Given the description of an element on the screen output the (x, y) to click on. 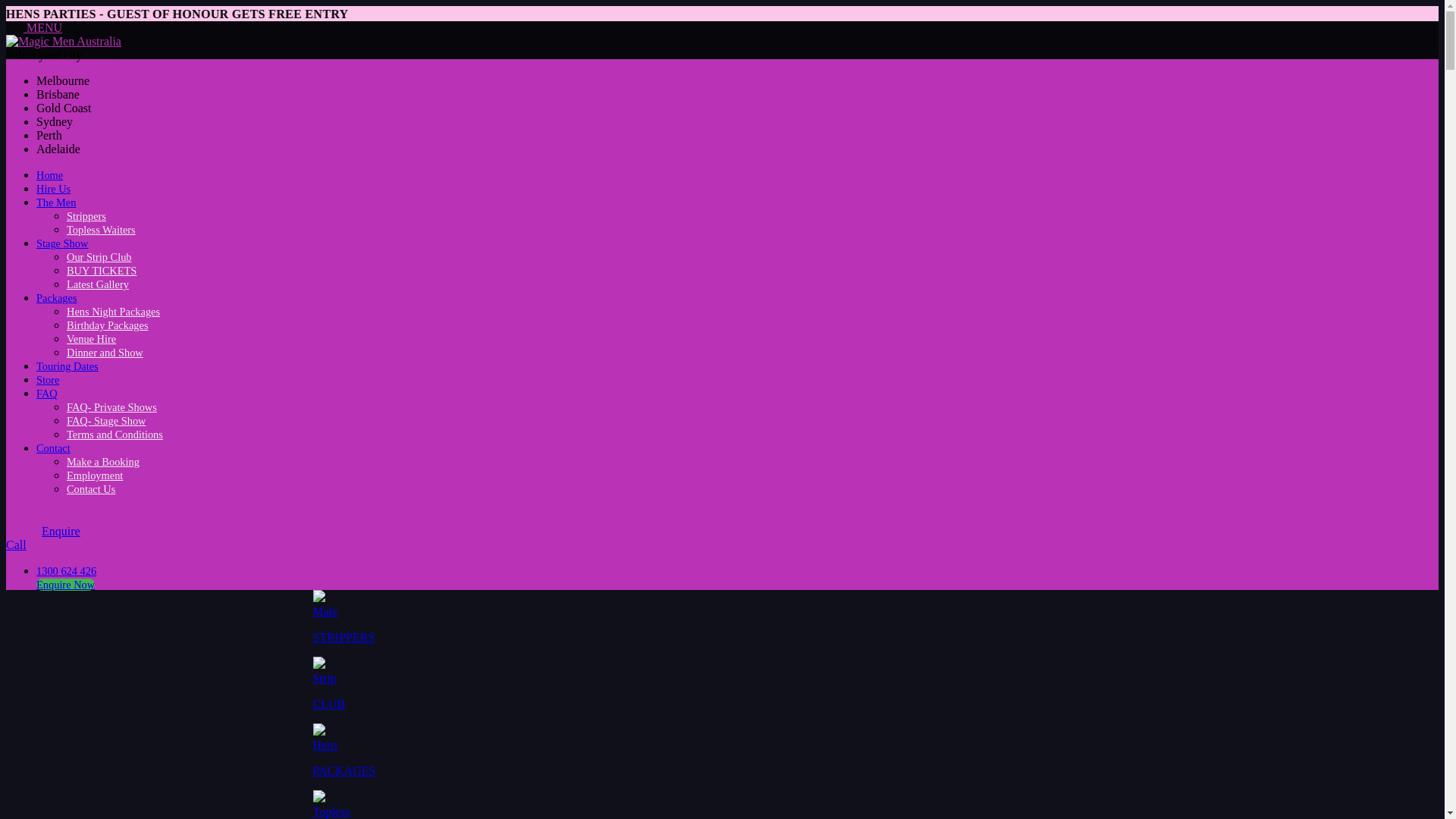
Latest Gallery Element type: text (97, 284)
Enquire Now Element type: text (65, 584)
Hens Night Packages Element type: text (113, 311)
FAQ Element type: text (46, 393)
Call Element type: text (722, 551)
Make a Booking Element type: text (102, 461)
Hire Us Element type: text (53, 188)
FAQ- Stage Show Element type: text (105, 420)
MENU Element type: text (34, 27)
Our Strip Club Element type: text (98, 257)
Birthday Packages Element type: text (107, 325)
Topless Waiters Element type: text (100, 229)
Venue Hire Element type: text (91, 338)
Strip
CLUB Element type: text (721, 684)
Hens
PACKAGES Element type: text (721, 751)
Contact Us Element type: text (90, 489)
Male
STRIPPERS Element type: text (721, 617)
Home Element type: text (49, 175)
Dinner and Show Element type: text (104, 352)
Terms and Conditions Element type: text (114, 434)
Store Element type: text (47, 379)
The Men Element type: text (55, 202)
BUY TICKETS Element type: text (101, 270)
Employment Element type: text (94, 475)
Strippers Element type: text (86, 216)
FAQ- Private Shows Element type: text (111, 407)
Stage Show Element type: text (61, 243)
Enquire Element type: text (43, 530)
1300 624 426 Element type: text (66, 570)
Packages Element type: text (56, 297)
Touring Dates Element type: text (67, 366)
Contact Element type: text (53, 448)
